Given the description of an element on the screen output the (x, y) to click on. 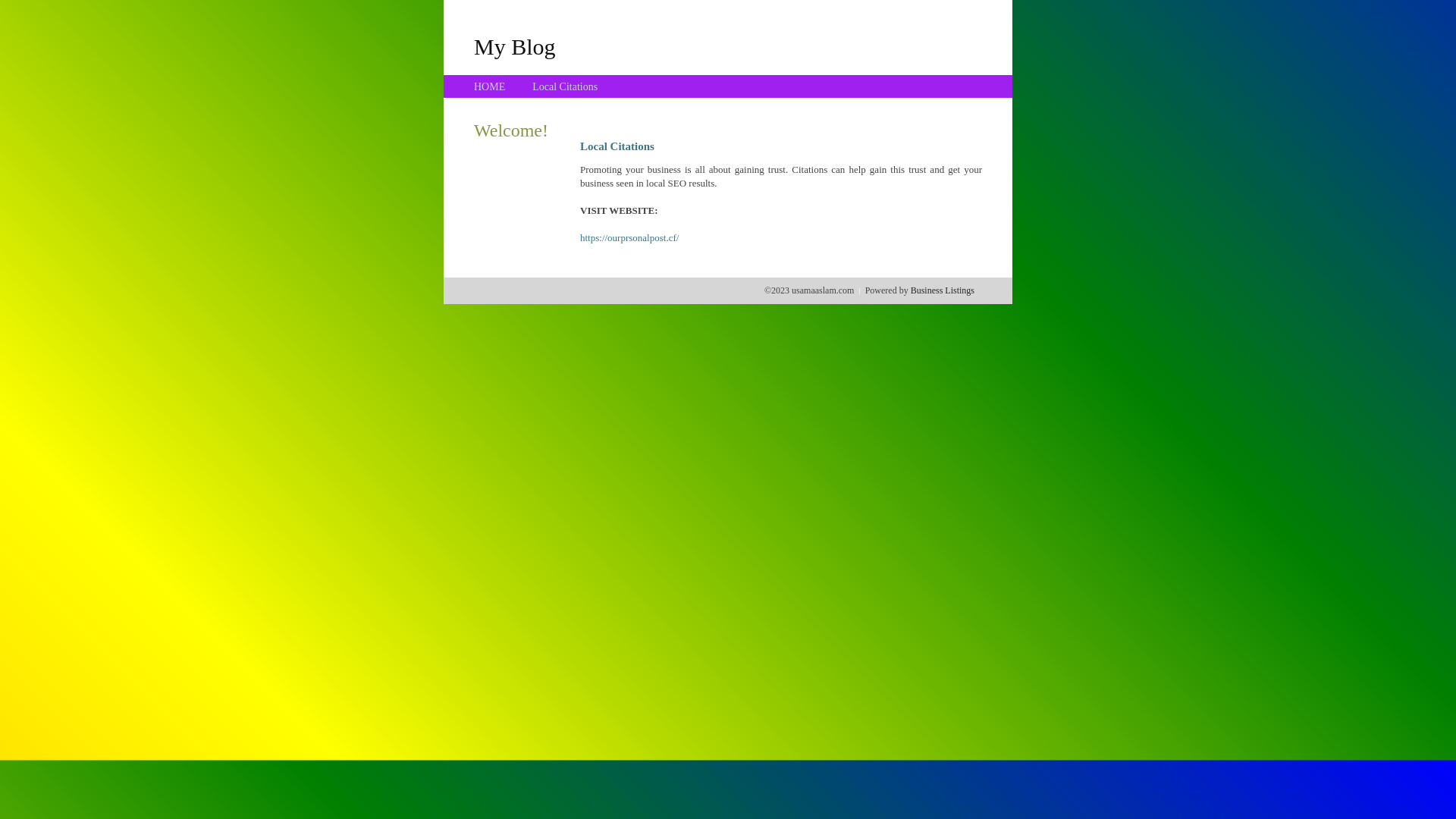
Business Listings Element type: text (942, 290)
My Blog Element type: text (514, 46)
https://ourprsonalpost.cf/ Element type: text (629, 237)
HOME Element type: text (489, 86)
Local Citations Element type: text (564, 86)
